Given the description of an element on the screen output the (x, y) to click on. 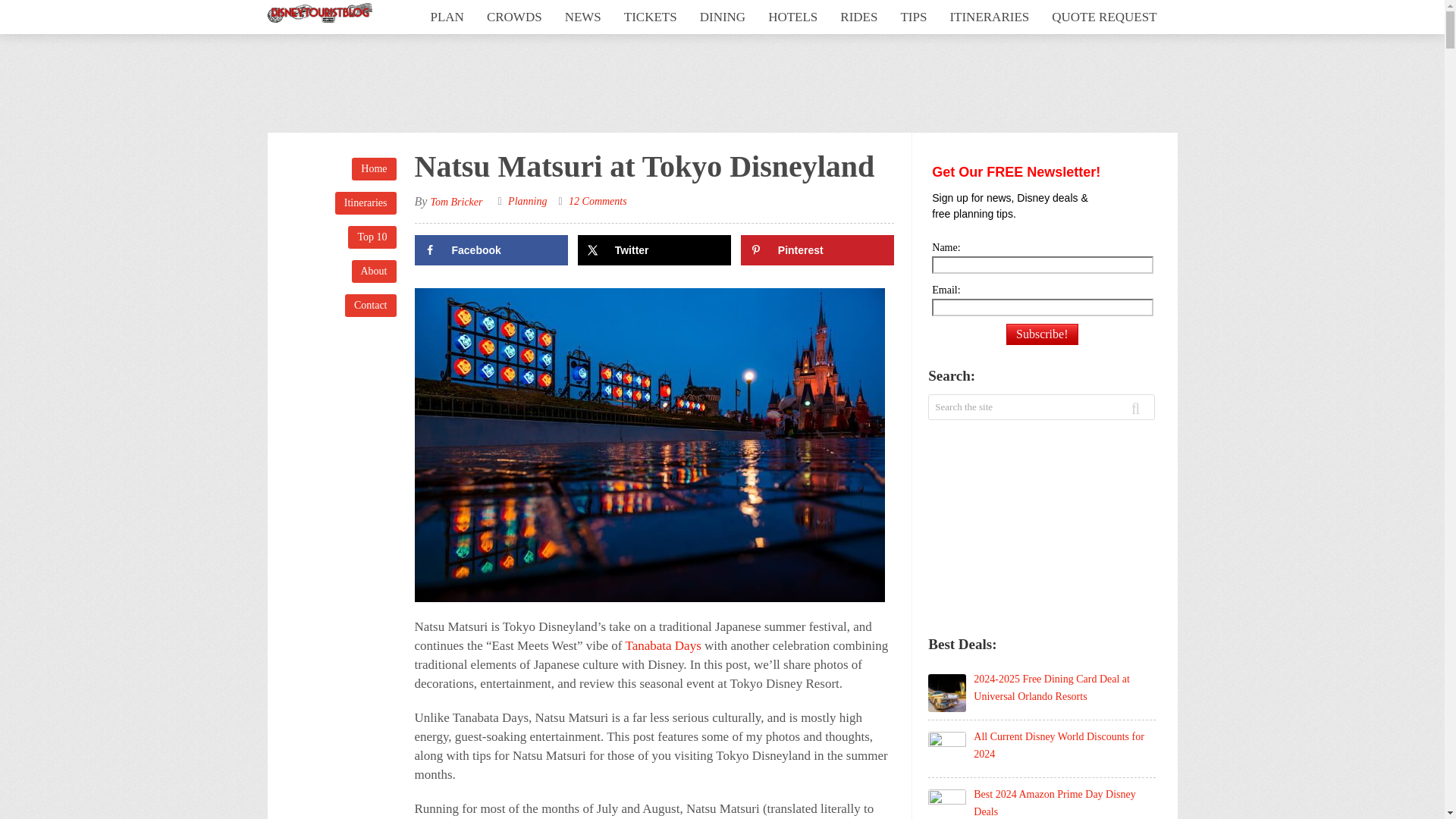
CROWDS (514, 17)
Tom Bricker (455, 202)
Subscribe! (1041, 333)
Top 10 (371, 237)
Save to Pinterest (818, 250)
HOTELS (792, 17)
QUOTE REQUEST (1104, 17)
PLAN (446, 17)
TICKETS (650, 17)
12 Comments (598, 201)
